Given the description of an element on the screen output the (x, y) to click on. 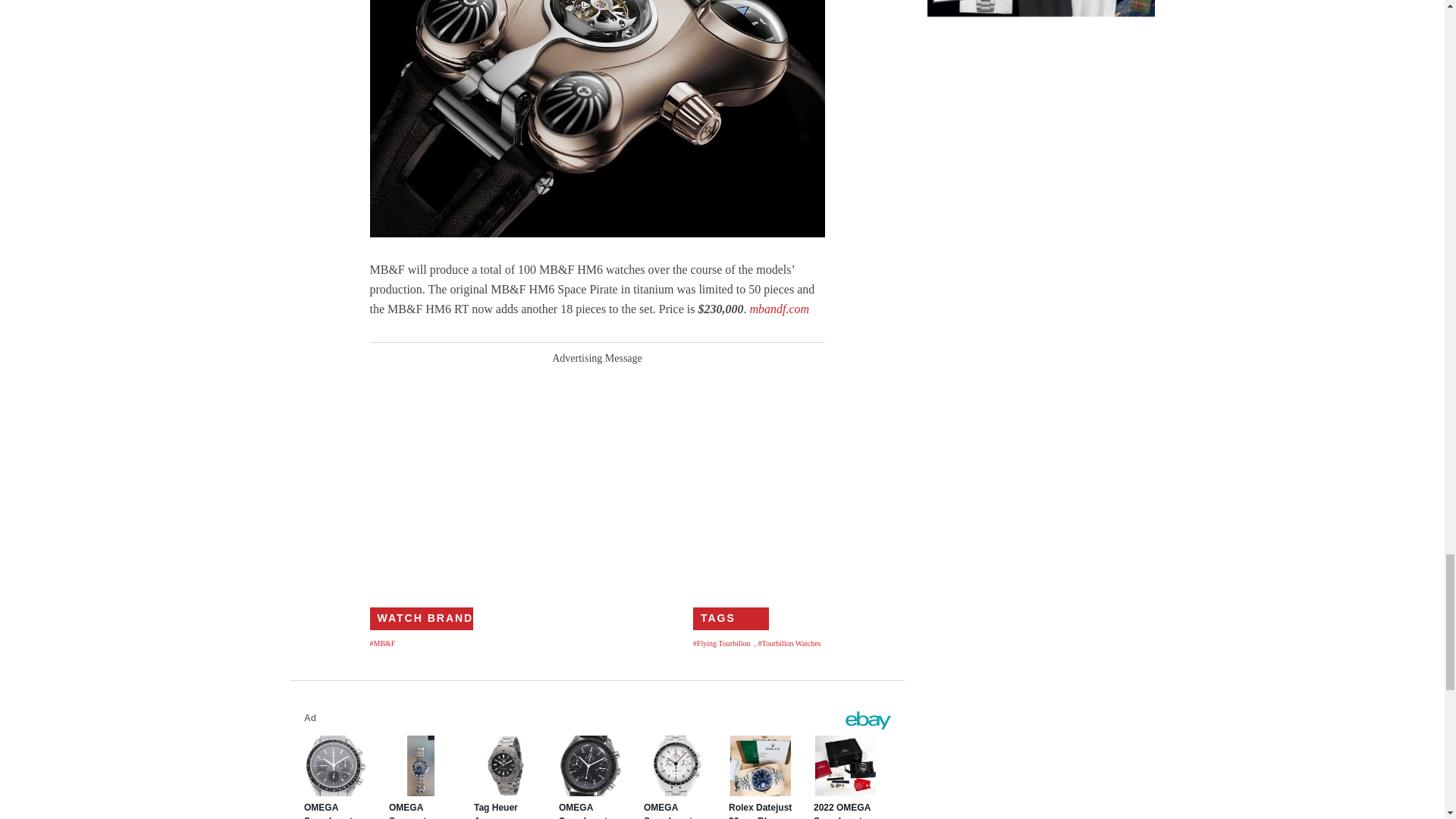
3rd party ad content (597, 470)
